Given the description of an element on the screen output the (x, y) to click on. 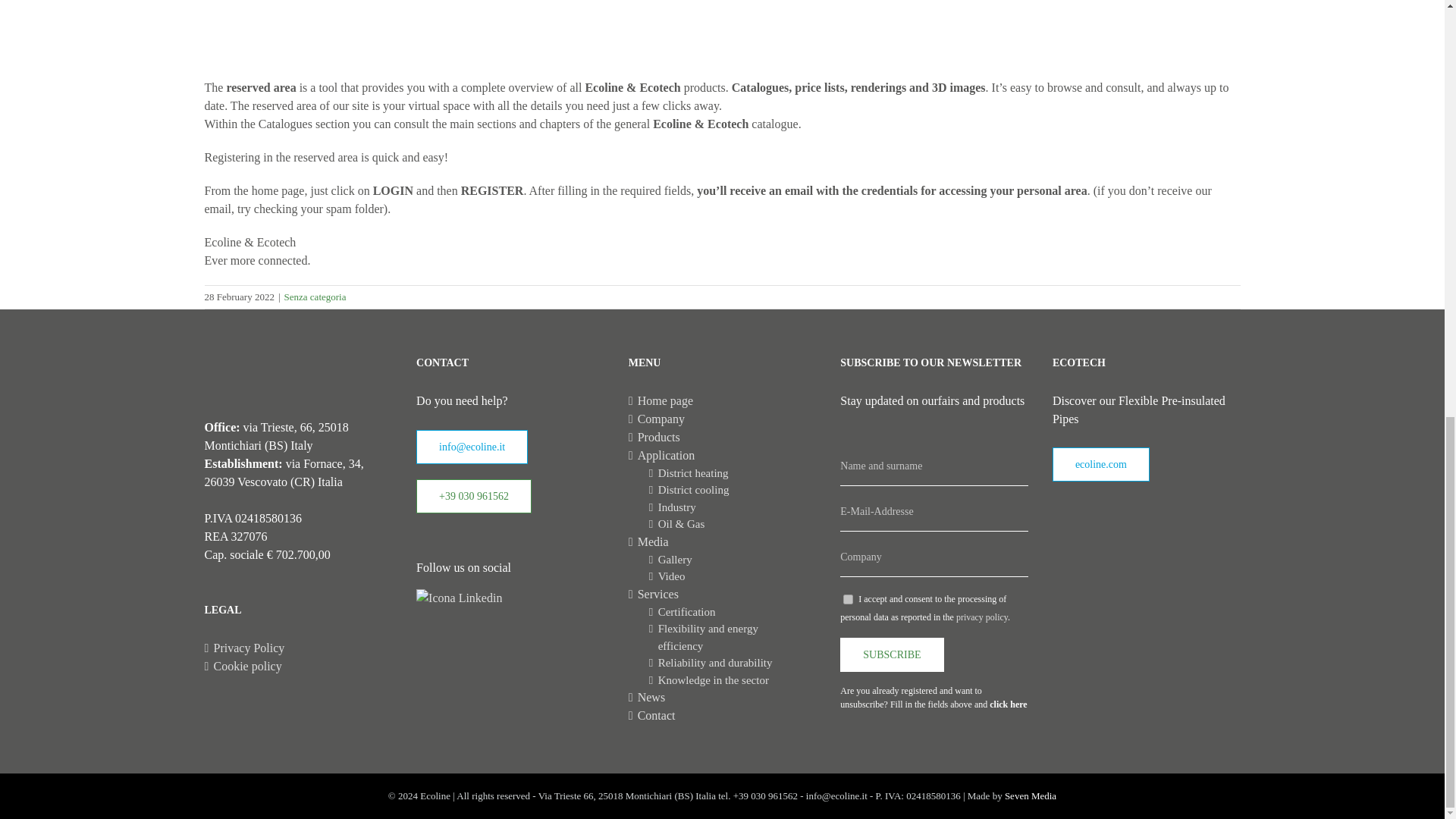
Senza categoria (314, 296)
Cookie policy (299, 666)
Home page (723, 401)
Home page (723, 401)
Icona Linkedin (459, 597)
Privacy Policy (299, 648)
SUBSCRIBE (891, 654)
1 (848, 599)
Company (723, 419)
